Given the description of an element on the screen output the (x, y) to click on. 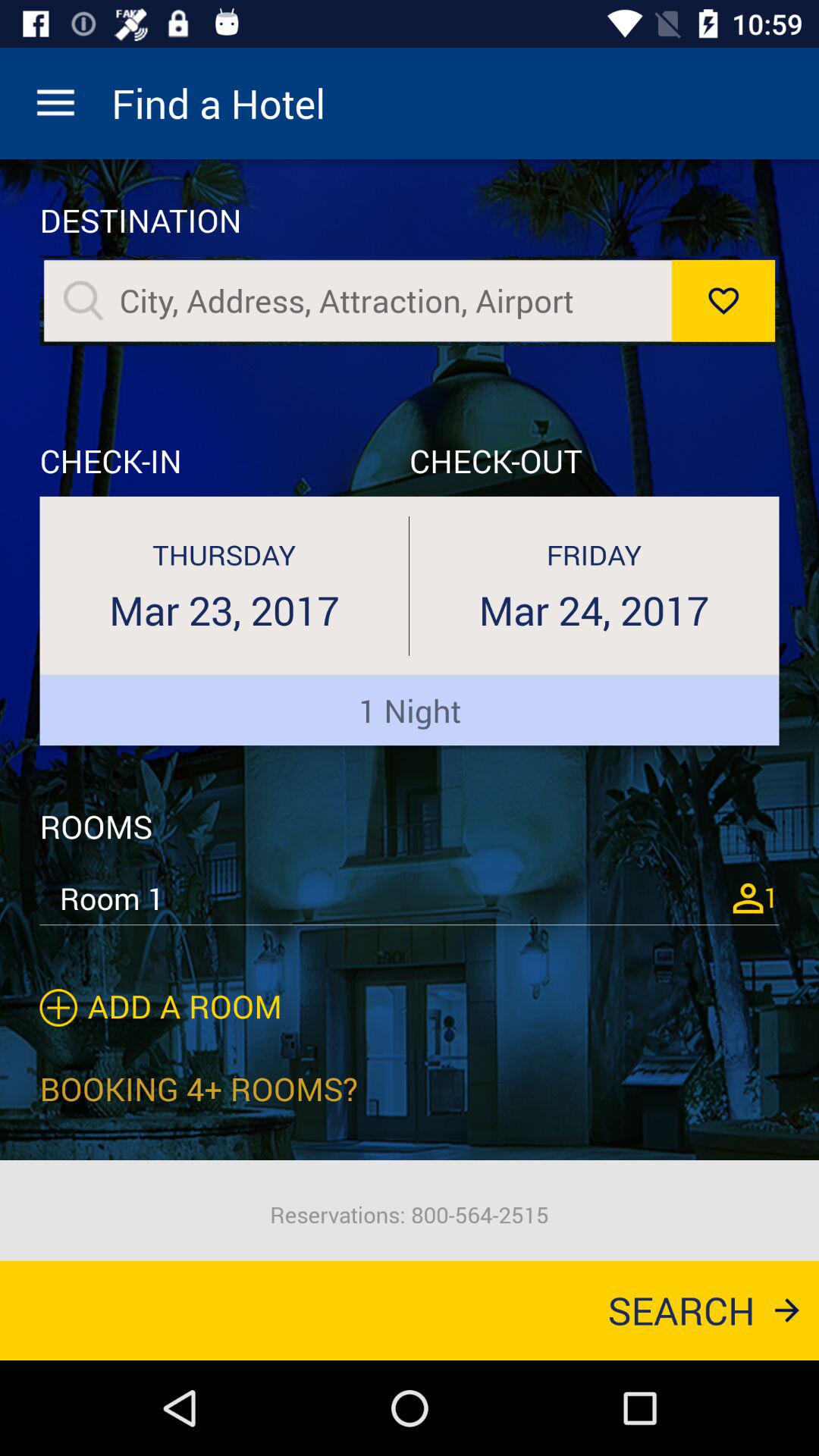
like option (723, 300)
